Given the description of an element on the screen output the (x, y) to click on. 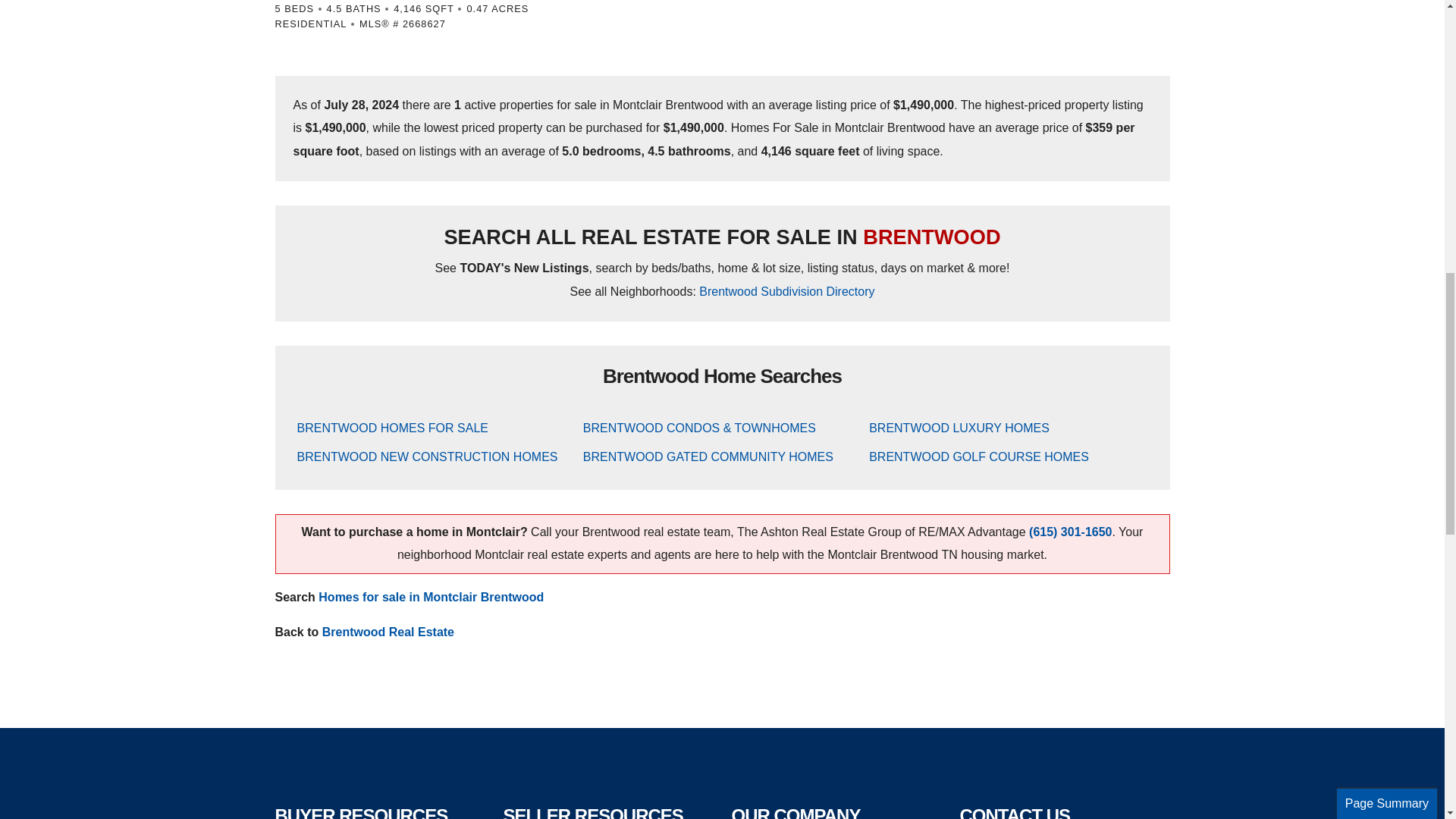
Brentwood Luxury Homes (959, 427)
Brentwood Golf Course Homes (979, 456)
Brentwood Condos Townhomes (699, 427)
Brentwood Gated Community Homes (707, 456)
Brentwood New Construction Homes (427, 456)
Brentwood Homes (392, 427)
